Given the description of an element on the screen output the (x, y) to click on. 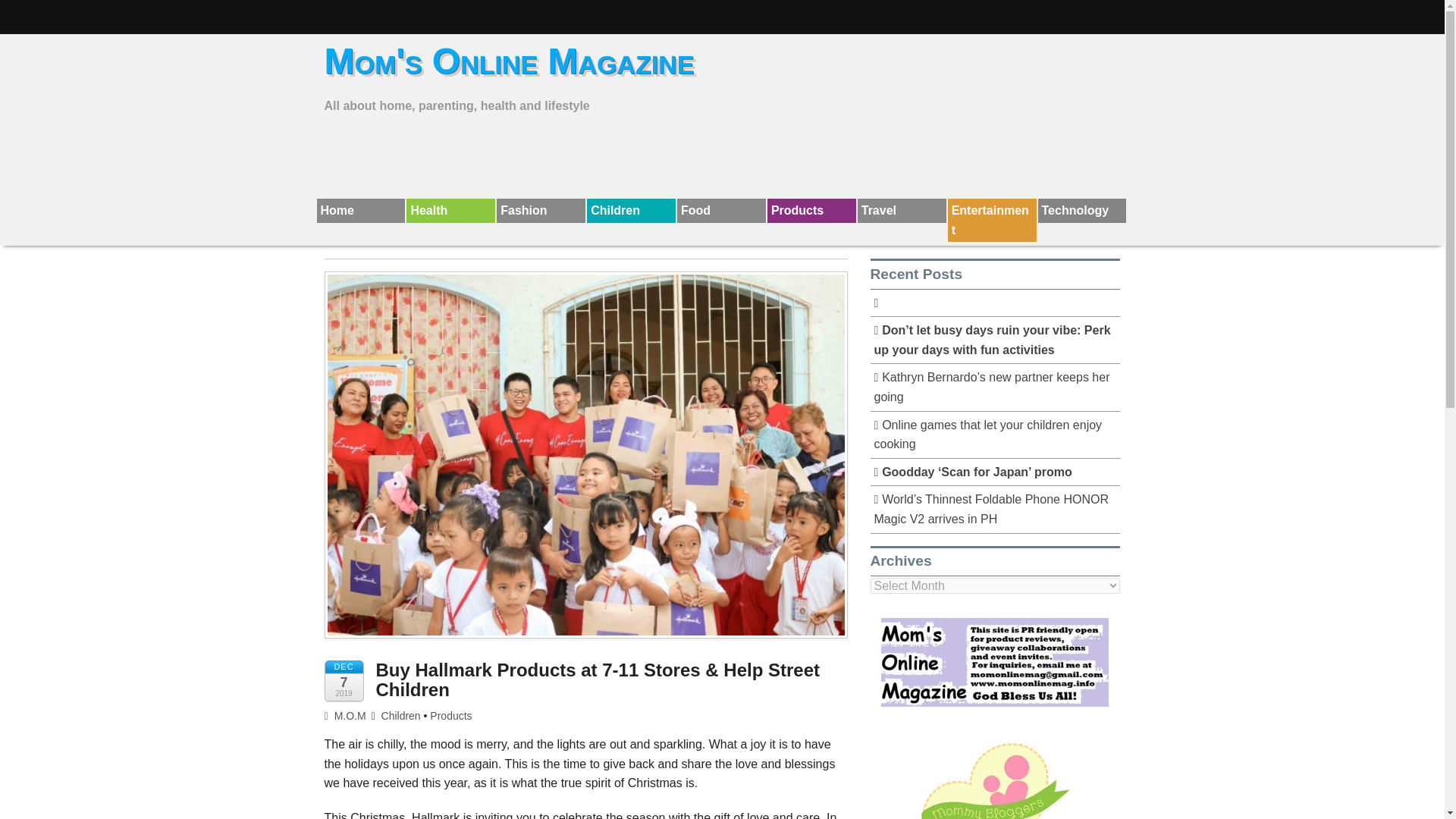
Advertisement (721, 154)
Fashion (540, 210)
Products (811, 210)
Health (450, 210)
Travel (901, 210)
Health (450, 210)
Technology (1080, 210)
Children (400, 715)
Entertainment (991, 220)
Technology (1080, 210)
